Given the description of an element on the screen output the (x, y) to click on. 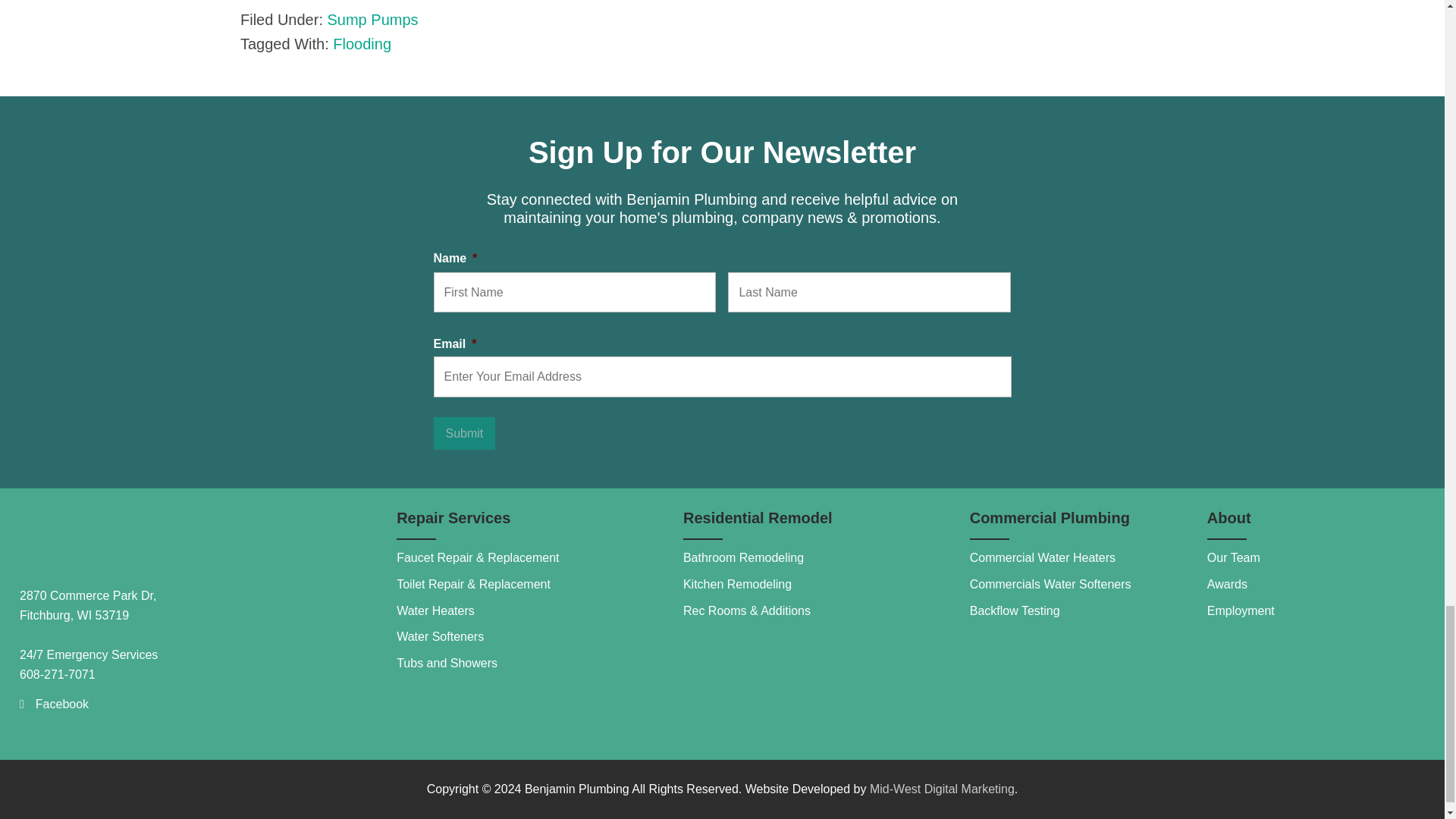
Submit (464, 432)
Benjamin Plumbing Logo (133, 536)
